Given the description of an element on the screen output the (x, y) to click on. 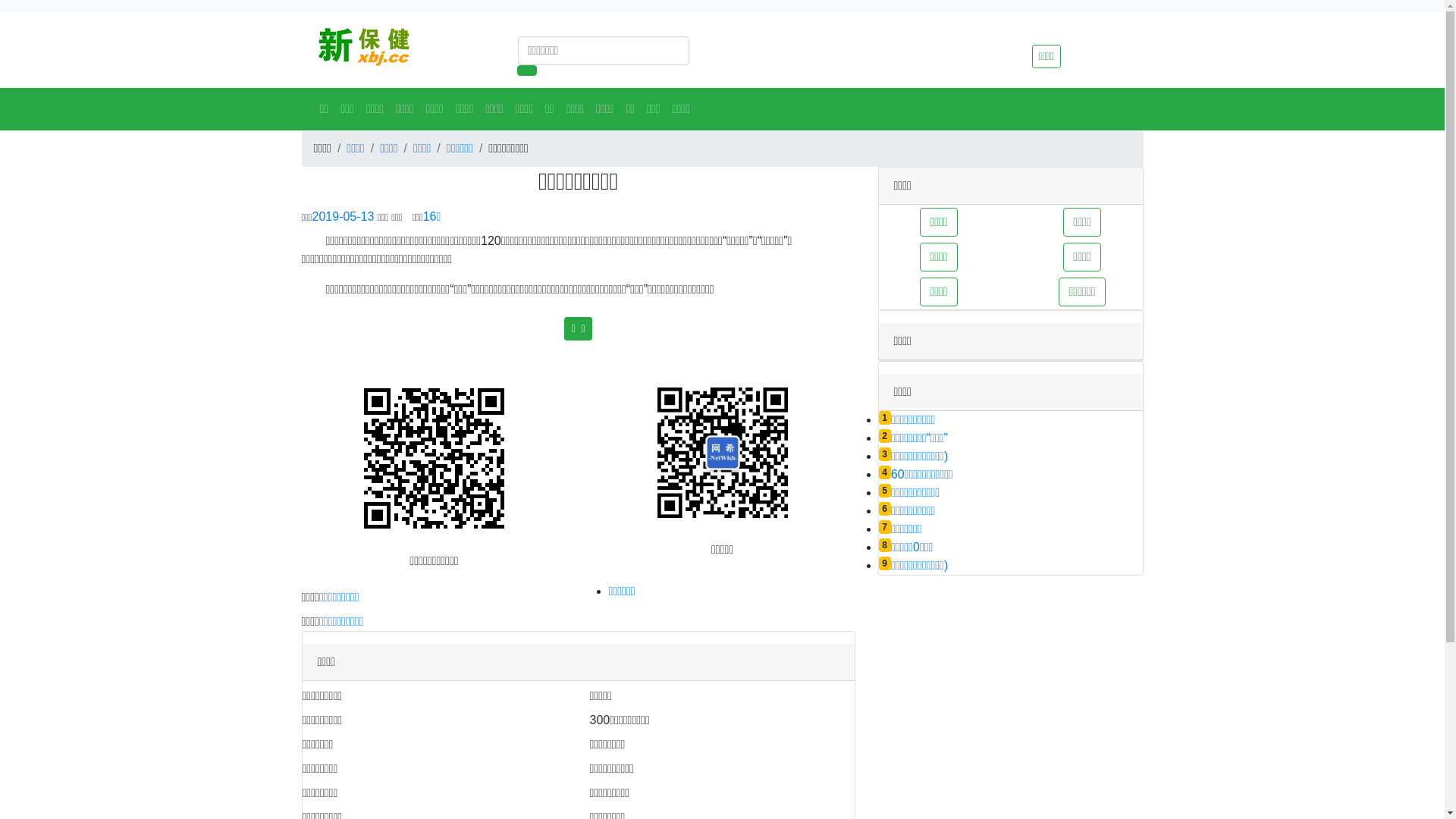
   Element type: text (404, 216)
2019-05-13 Element type: text (343, 216)
